Given the description of an element on the screen output the (x, y) to click on. 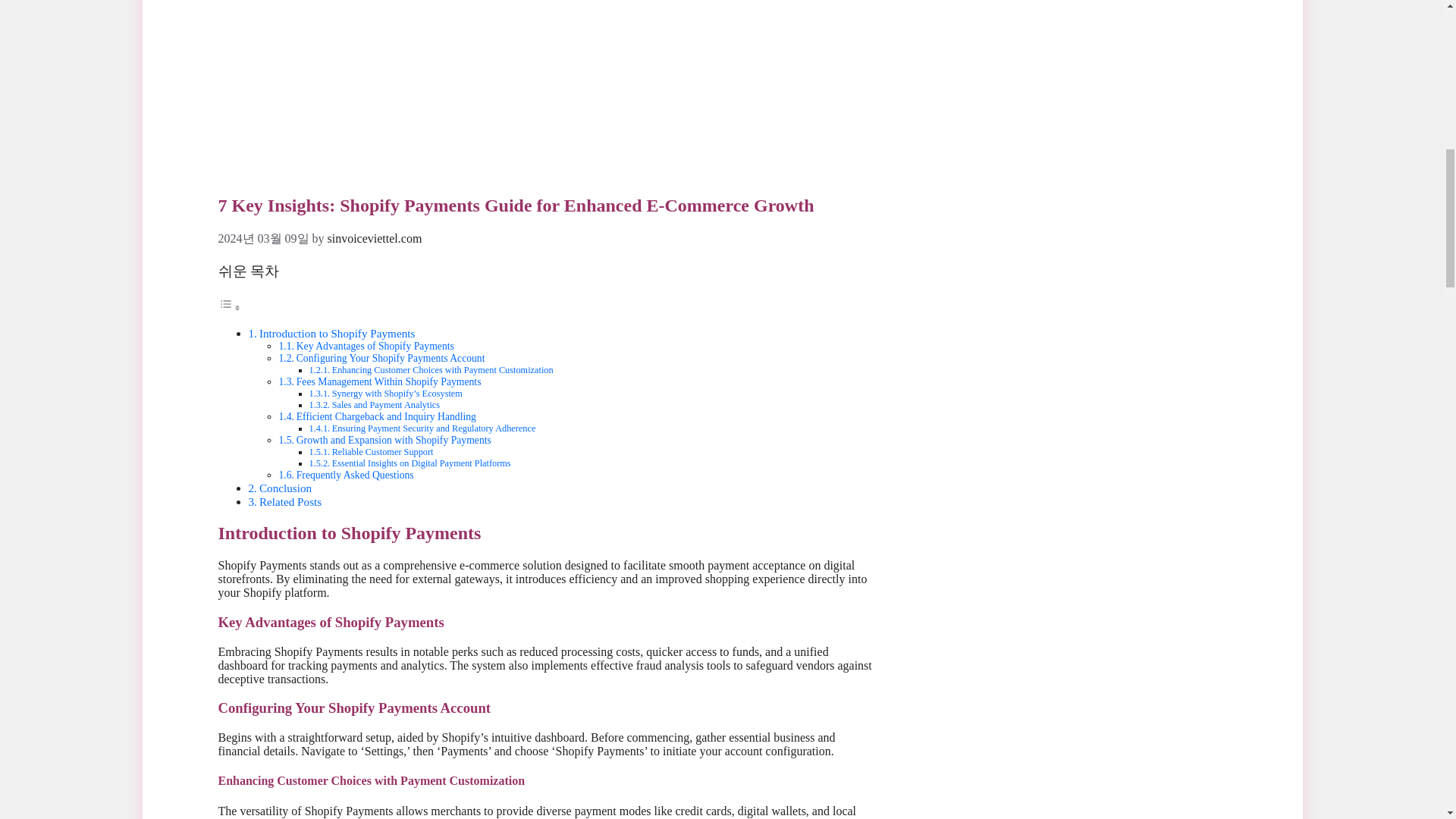
Frequently Asked Questions (355, 474)
Ensuring Payment Security and Regulatory Adherence (433, 428)
Configuring Your Shopify Payments Account (390, 357)
Reliable Customer Support (382, 451)
Conclusion (285, 487)
Introduction to Shopify Payments (336, 332)
Growth and Expansion with Shopify Payments (394, 439)
Essential Insights on Digital Payment Platforms (421, 462)
Fees Management Within Shopify Payments (389, 381)
Configuring Your Shopify Payments Account (390, 357)
Fees Management Within Shopify Payments (389, 381)
View all posts by sinvoiceviettel.com (374, 237)
Growth and Expansion with Shopify Payments (394, 439)
Enhancing Customer Choices with Payment Customization (442, 369)
Essential Insights on Digital Payment Platforms (421, 462)
